Given the description of an element on the screen output the (x, y) to click on. 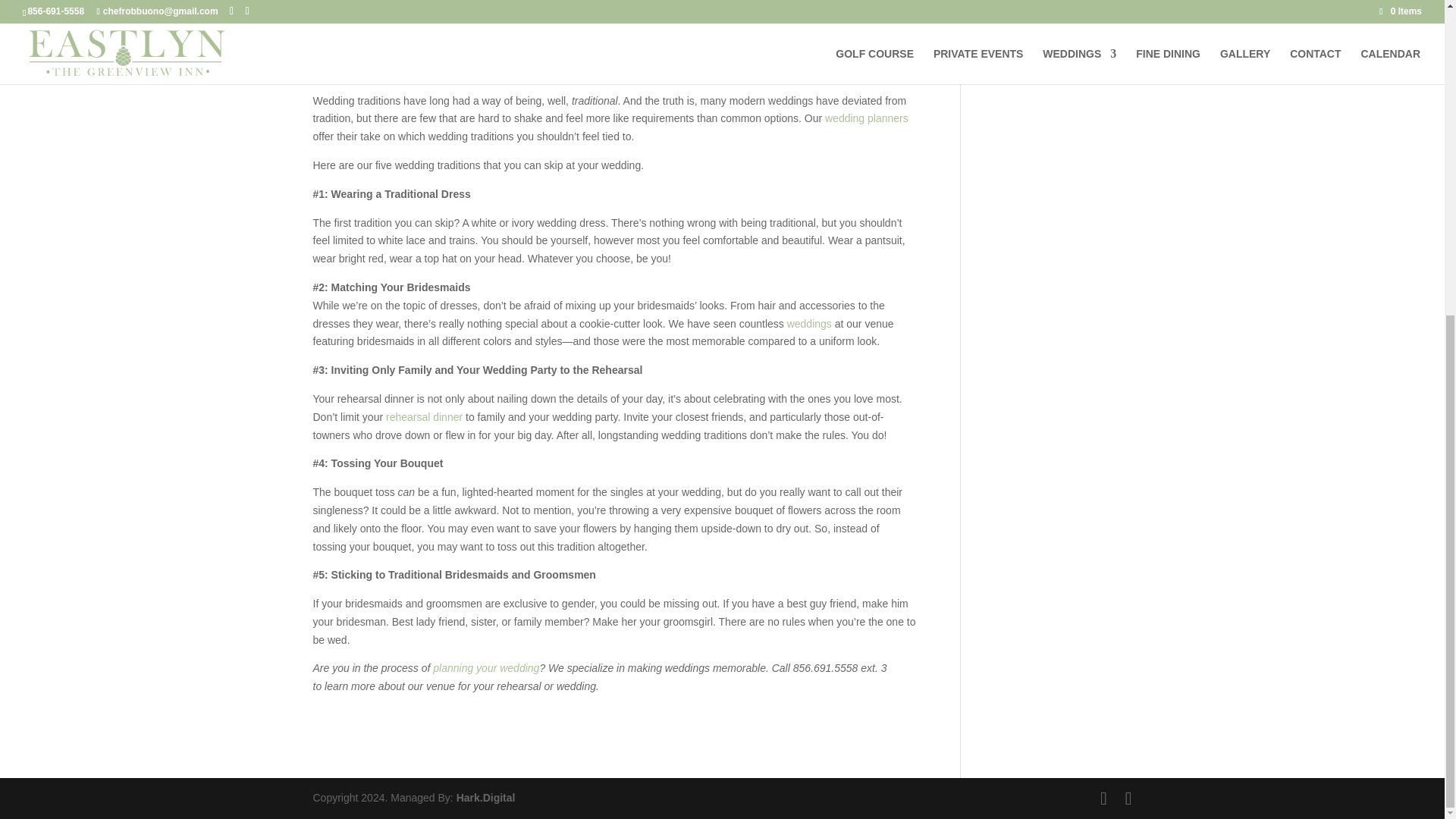
wedding planners (866, 118)
Hark.Digital (486, 797)
planning your wedding (485, 667)
weddings (809, 323)
rehearsal dinner (424, 417)
